Given the description of an element on the screen output the (x, y) to click on. 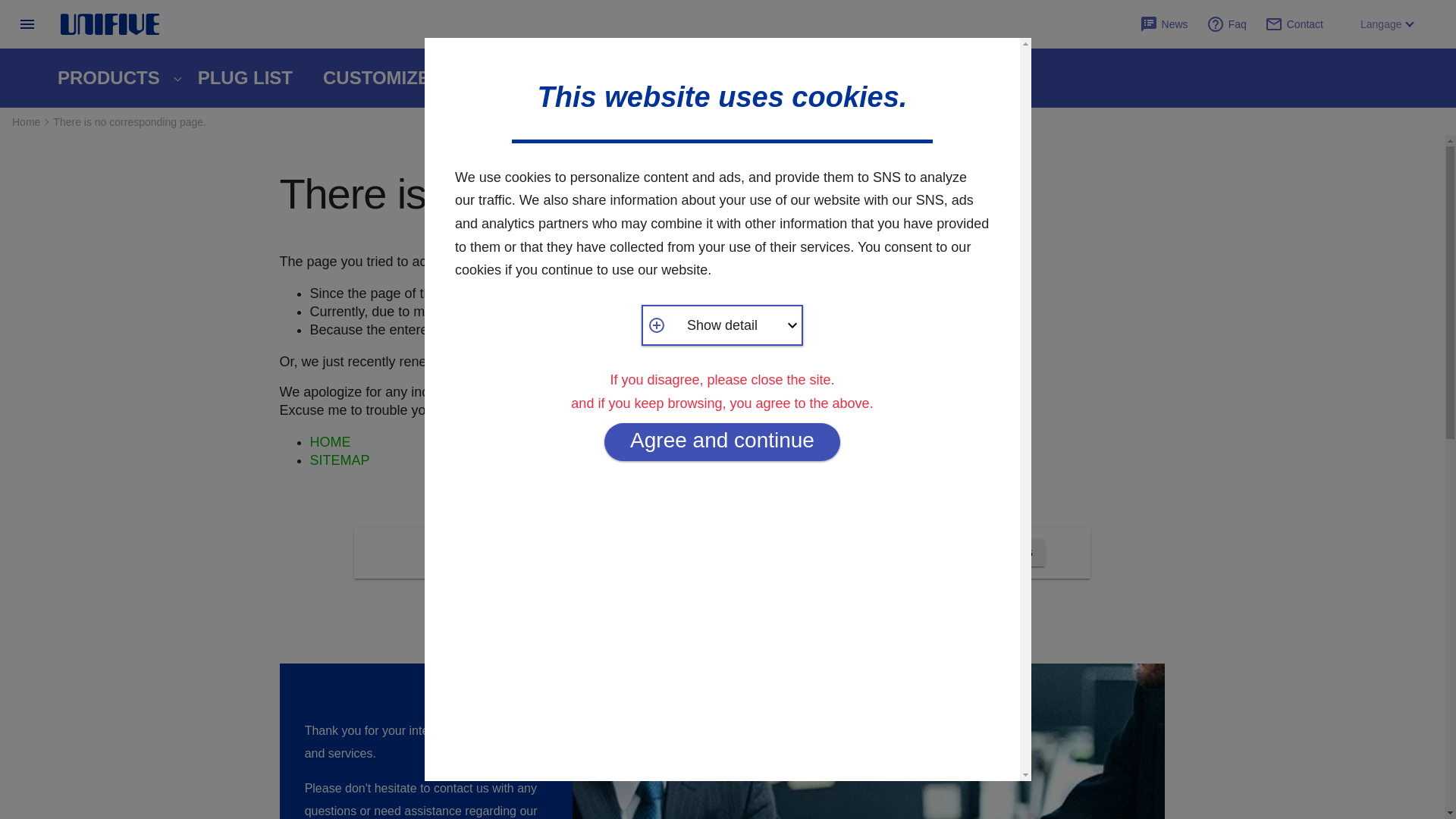
DOWNLOAD THE CATALOG (963, 552)
News (1173, 24)
HOME (329, 441)
Faq (1236, 24)
Home (25, 121)
COMMITMENT TO QUALITY (587, 77)
CUSTOMIZE (379, 77)
PLUG LIST (245, 77)
PRODUCTS (112, 77)
Contact (1302, 24)
There is no corresponding page. (129, 121)
SITEMAP (338, 459)
